Given the description of an element on the screen output the (x, y) to click on. 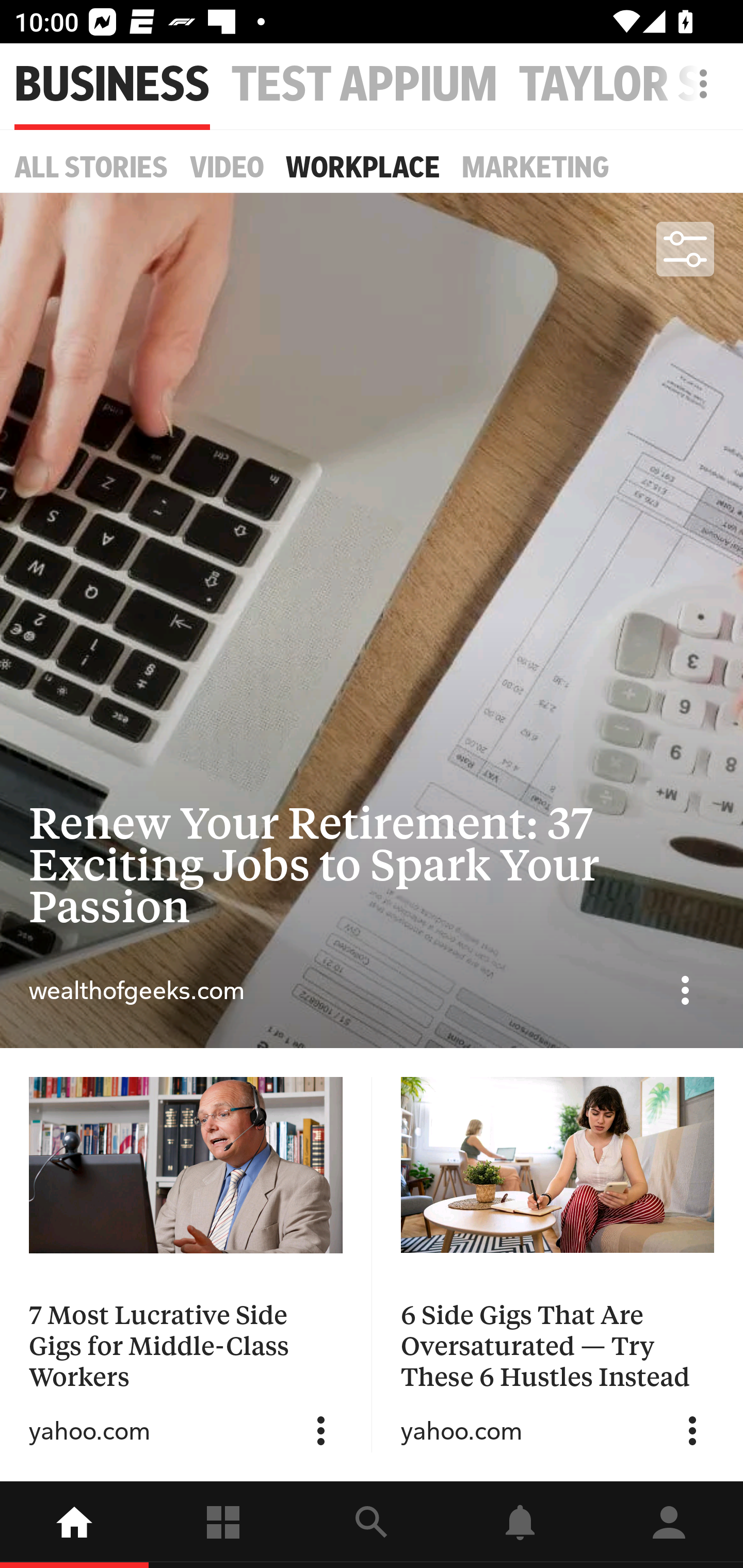
BUSINESS (112, 84)
TEST APPIUM (364, 84)
TAYLOR SWIFT  (631, 84)
Edit Home (697, 83)
ALL STORIES (90, 166)
VIDEO (227, 166)
WORKPLACE (362, 166)
MARKETING (535, 166)
Options (685, 989)
Options (320, 1430)
Options (692, 1430)
home (74, 1524)
Following (222, 1524)
explore (371, 1524)
Notifications (519, 1524)
Profile (668, 1524)
